Given the description of an element on the screen output the (x, y) to click on. 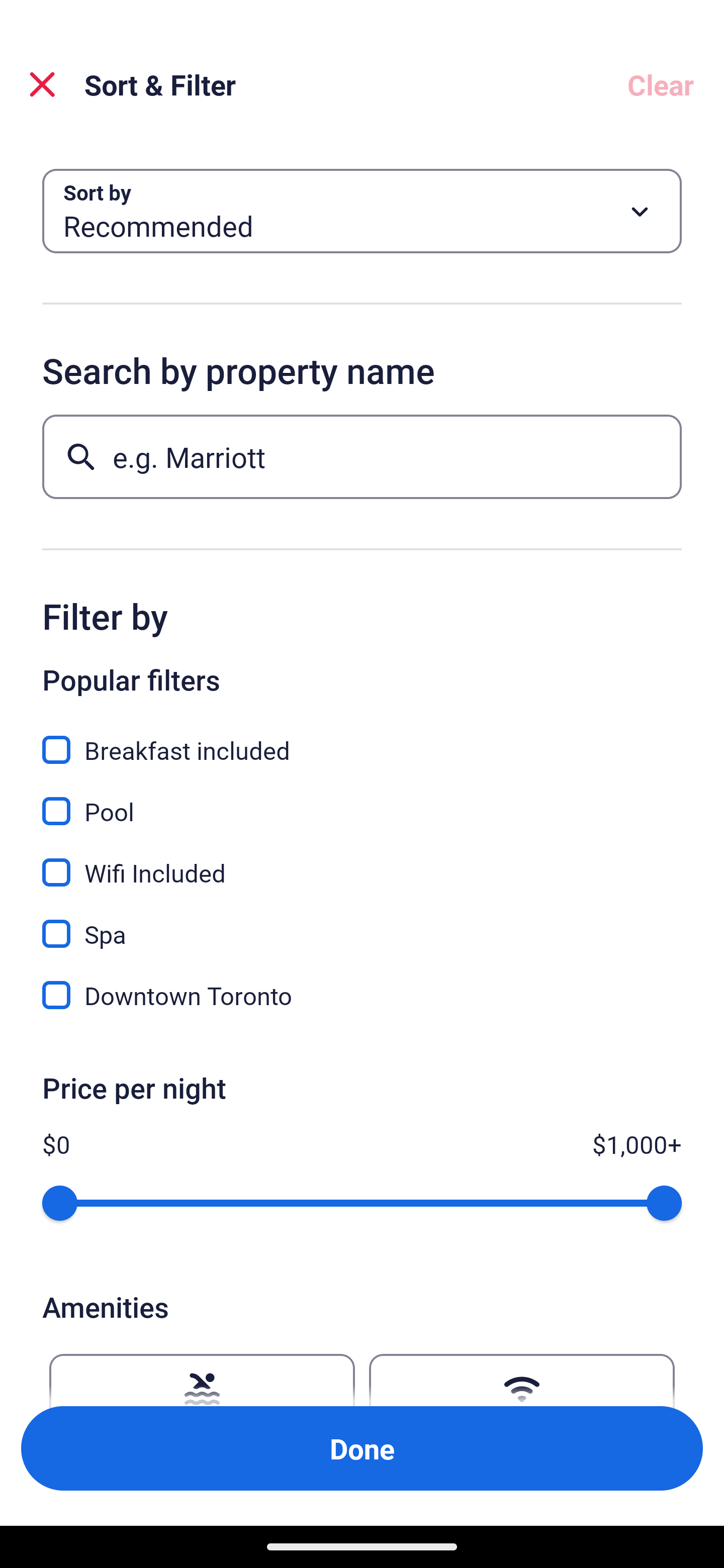
Close Sort and Filter (42, 84)
Clear (660, 84)
Sort by Button Recommended (361, 211)
e.g. Marriott Button (361, 455)
Breakfast included, Breakfast included (361, 738)
Pool, Pool (361, 800)
Wifi Included, Wifi Included (361, 861)
Spa, Spa (361, 922)
Downtown Toronto, Downtown Toronto (361, 995)
Apply and close Sort and Filter Done (361, 1448)
